Given the description of an element on the screen output the (x, y) to click on. 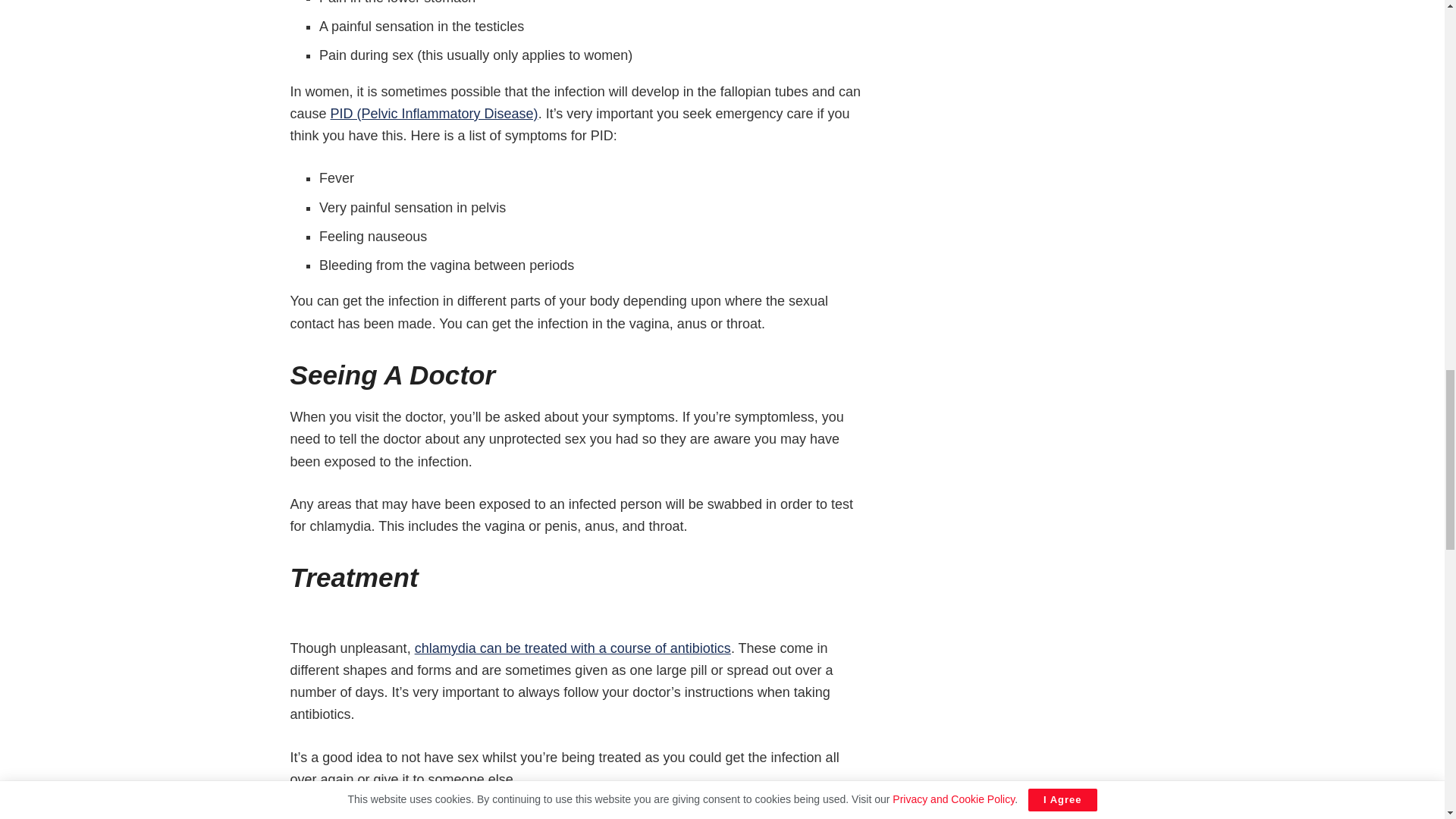
chlamydia can be treated with a course of antibiotics (572, 648)
